Given the description of an element on the screen output the (x, y) to click on. 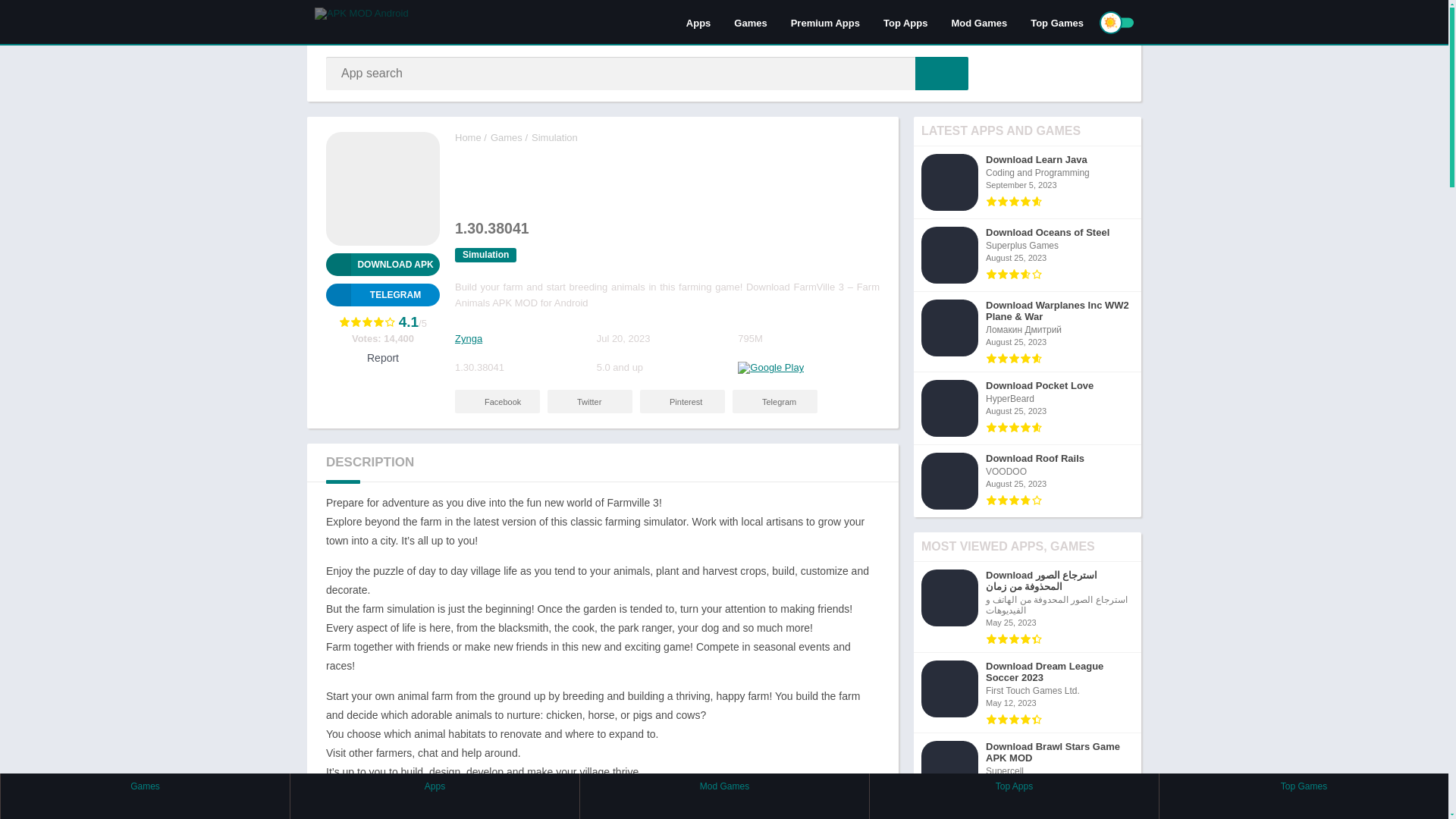
Home (467, 137)
Top Games (1056, 22)
Telegram (382, 294)
Games (506, 137)
Download APK (382, 264)
Premium Apps (824, 22)
DOWNLOAD APK (382, 264)
Simulation (485, 255)
Telegram (774, 401)
Pinterest (682, 401)
Mod Games (978, 22)
App search (941, 73)
Top Apps (905, 22)
Zynga (467, 337)
APK MOD Android (467, 137)
